Given the description of an element on the screen output the (x, y) to click on. 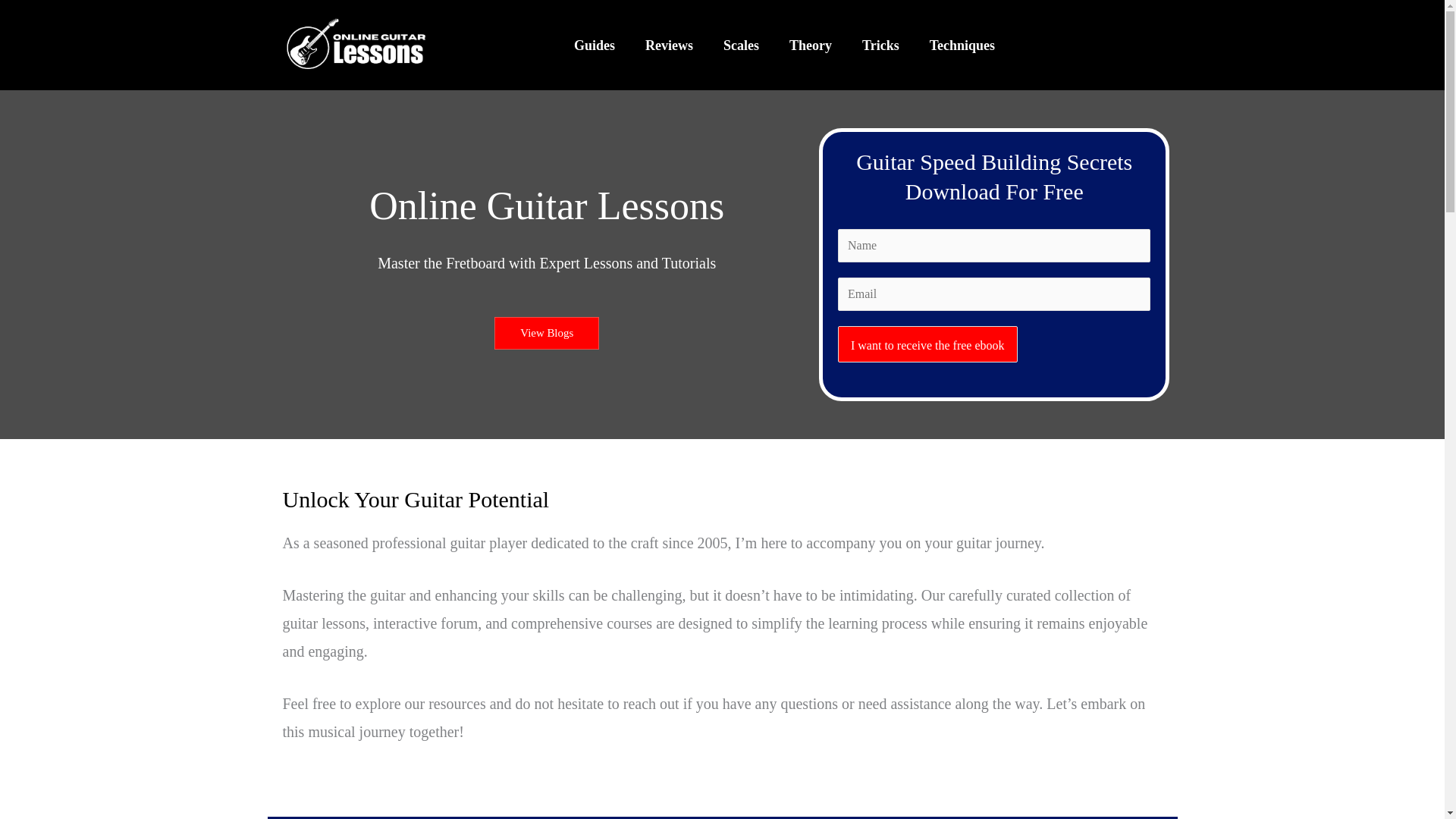
I want to receive the free ebook (927, 343)
Scales (740, 44)
Reviews (668, 44)
Guides (594, 44)
Tricks (880, 44)
Techniques (962, 44)
Theory (810, 44)
View Blogs (546, 332)
